Given the description of an element on the screen output the (x, y) to click on. 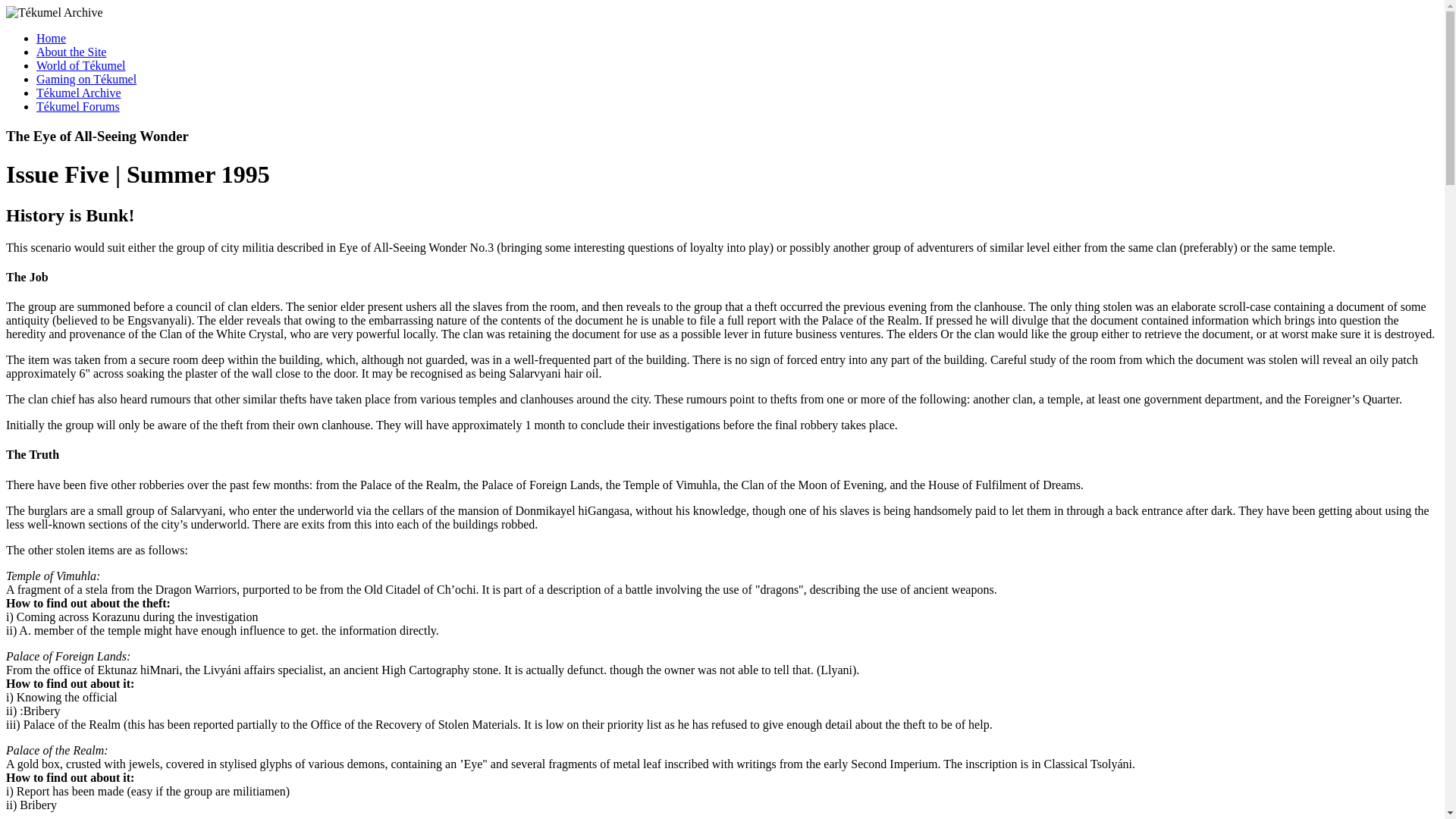
About the Site (71, 51)
Home (50, 38)
